Given the description of an element on the screen output the (x, y) to click on. 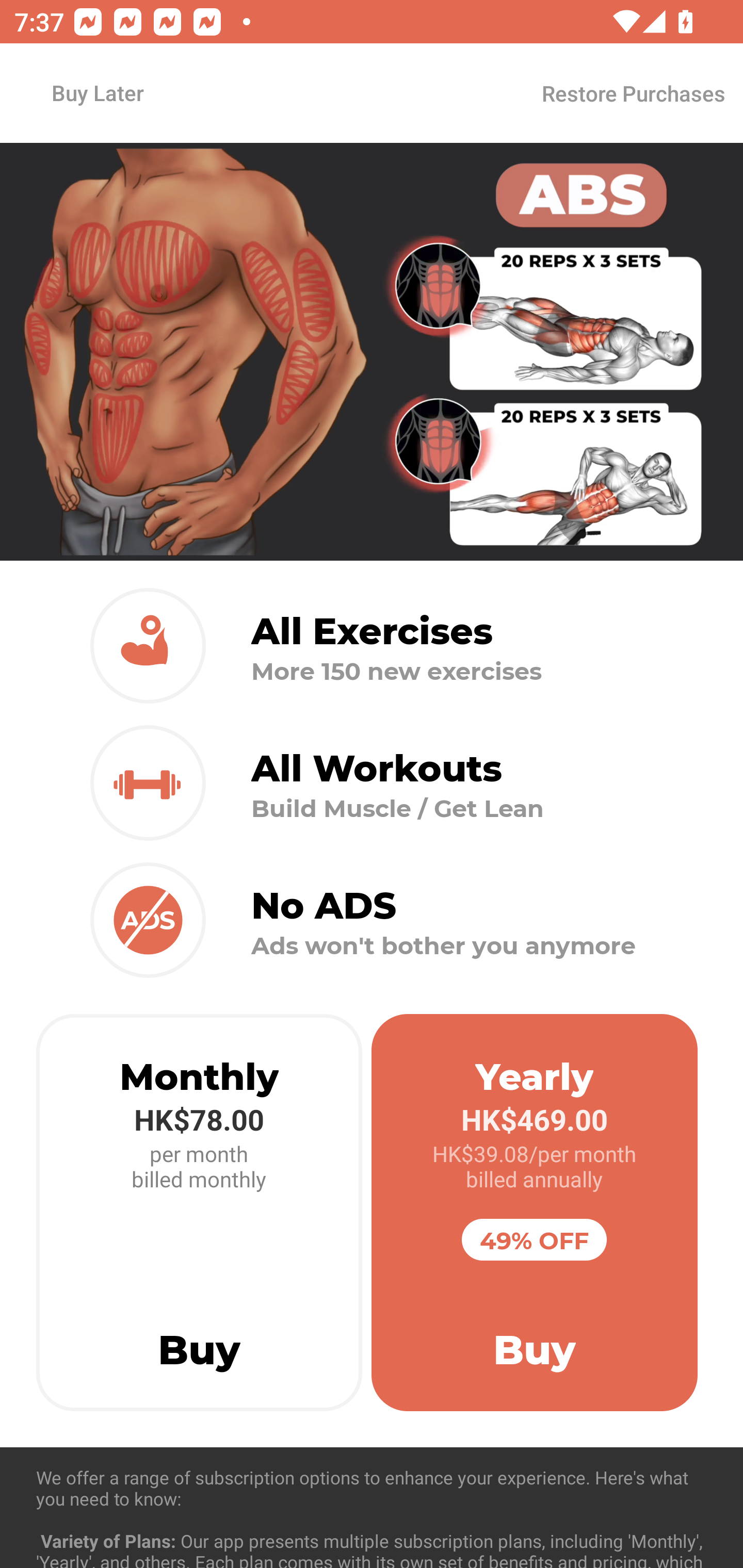
Restore Purchases (632, 92)
Buy Later (96, 92)
Monthly HK$78.00 per month
billed monthly Buy (199, 1212)
